Given the description of an element on the screen output the (x, y) to click on. 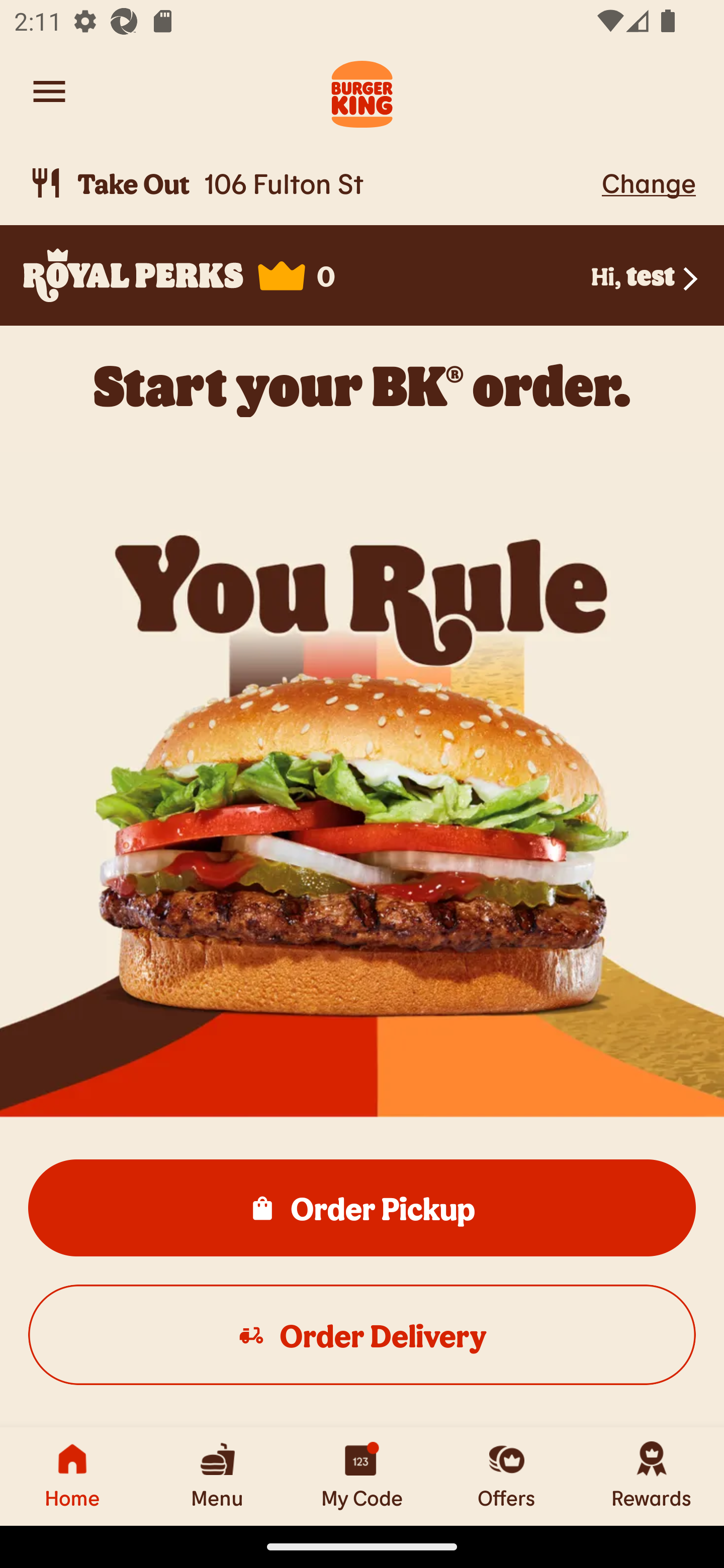
Burger King Logo. Navigate to Home (362, 91)
Navigate to account menu  (49, 91)
Take Out, 106 Fulton St  Take Out 106 Fulton St (311, 183)
Change (648, 182)
Start your BK® order. (361, 385)
, Order Pickup  Order Pickup (361, 1206)
, Order Delivery  Order Delivery (361, 1334)
Home (72, 1475)
Menu (216, 1475)
My Code (361, 1475)
Offers (506, 1475)
Rewards (651, 1475)
